Given the description of an element on the screen output the (x, y) to click on. 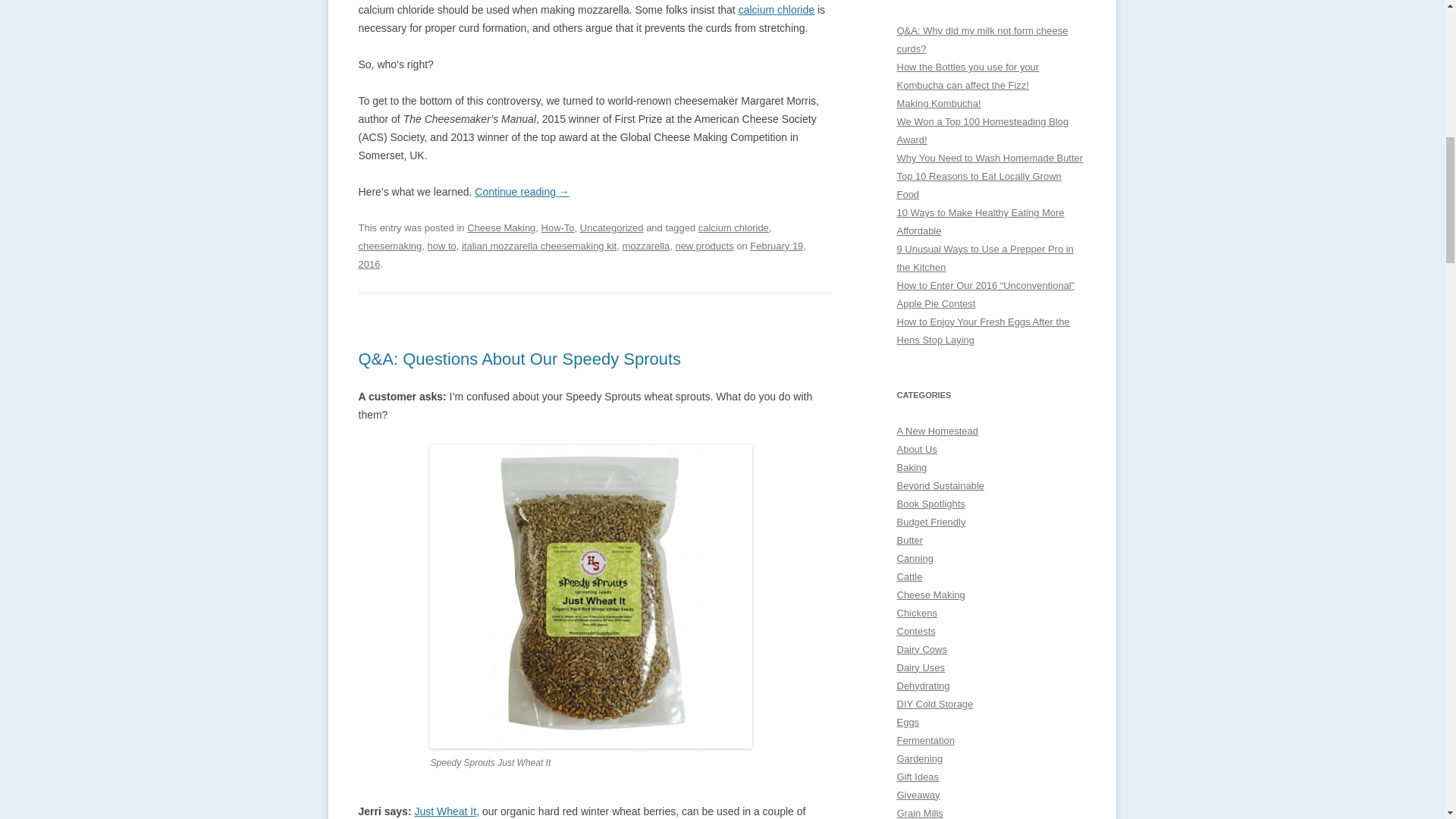
calcium chloride (733, 227)
How-To (558, 227)
cheesemaking (390, 245)
Uncategorized (611, 227)
1:35 pm (581, 255)
February 19, 2016 (581, 255)
how to (440, 245)
Cheese Making (501, 227)
mozzarella (645, 245)
calcium chloride (775, 9)
